Given the description of an element on the screen output the (x, y) to click on. 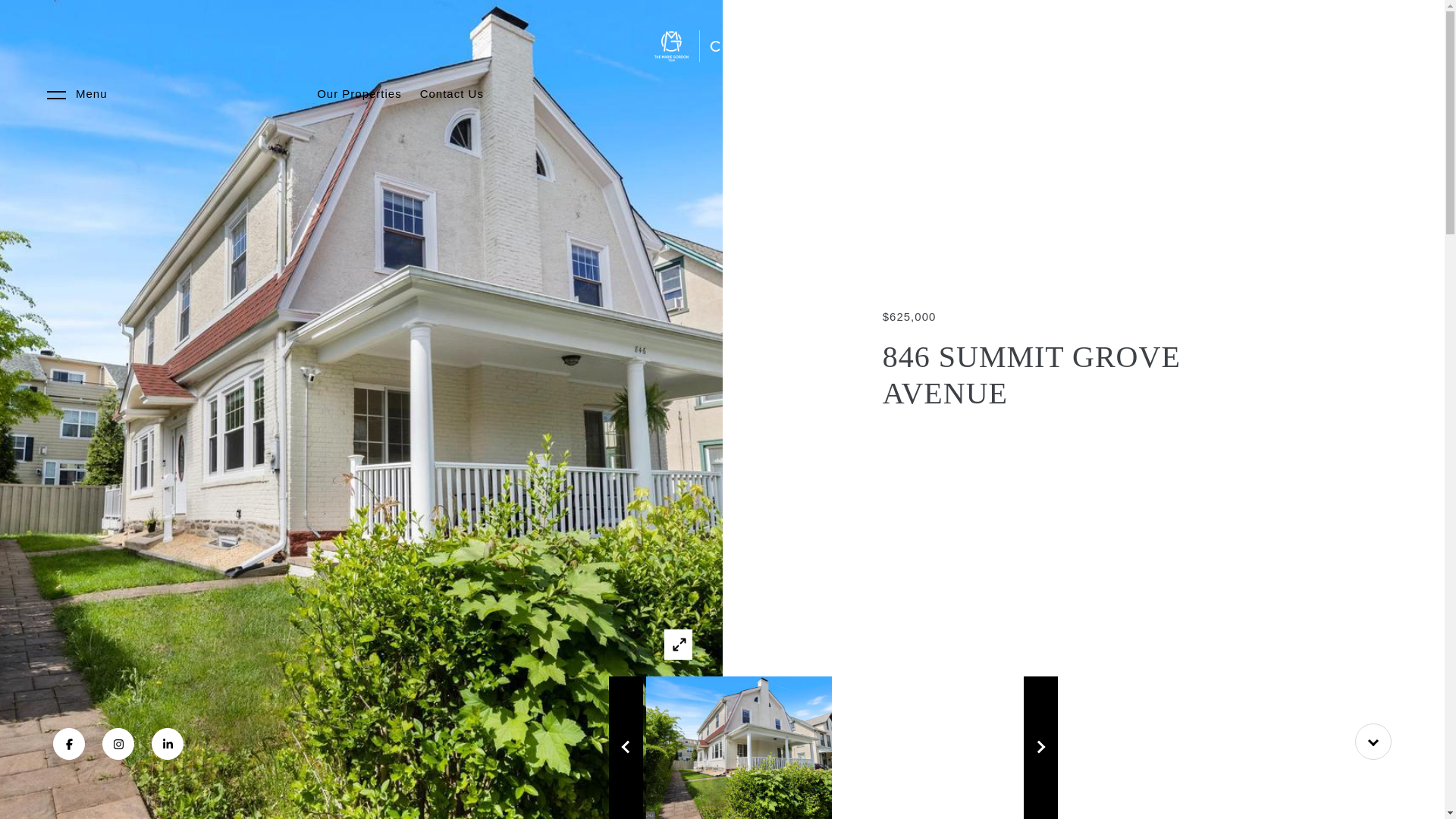
Contact Us (451, 94)
Our Properties (358, 94)
